Given the description of an element on the screen output the (x, y) to click on. 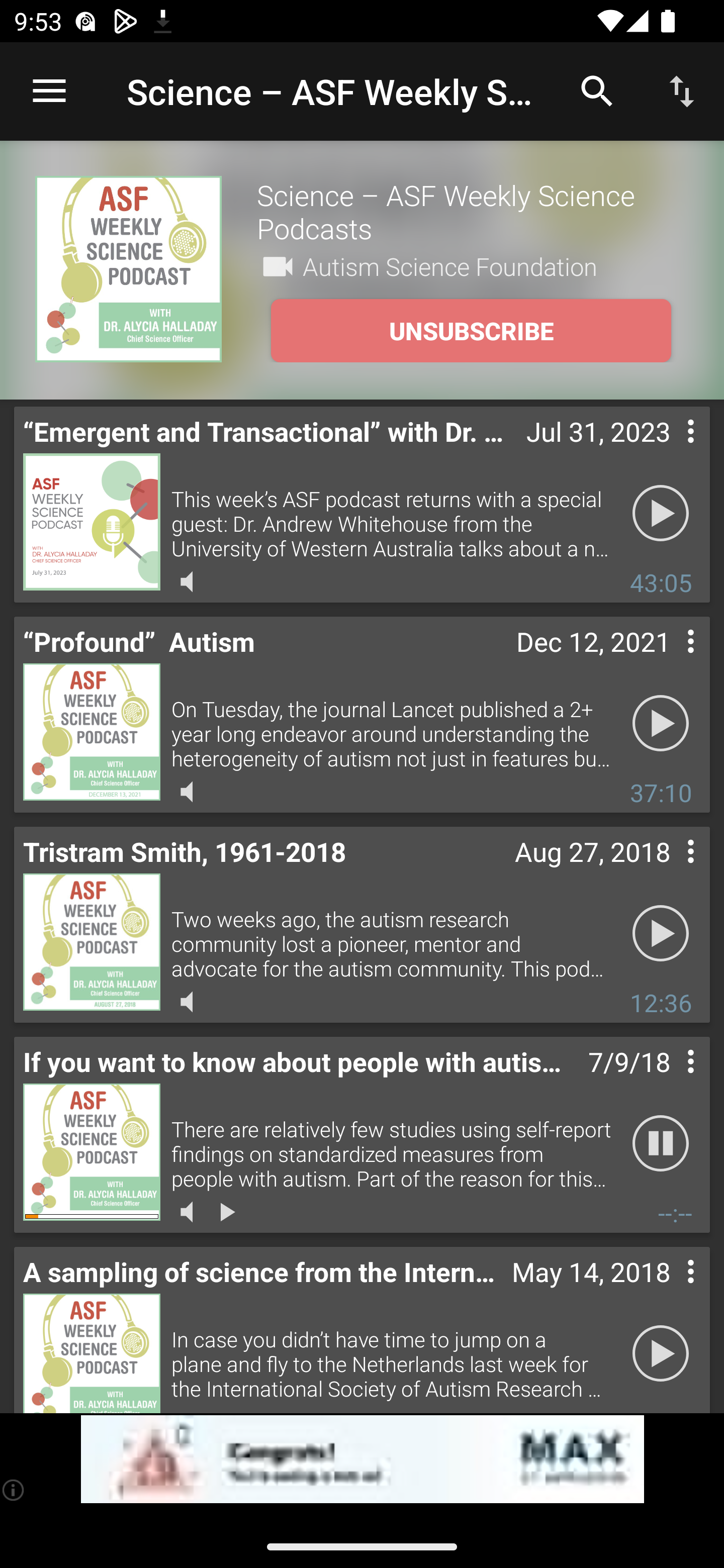
Open navigation sidebar (49, 91)
Search (597, 90)
Sort (681, 90)
UNSUBSCRIBE (470, 330)
Contextual menu (668, 451)
Play (660, 513)
Contextual menu (668, 661)
Play (660, 723)
Contextual menu (668, 870)
Play (660, 933)
Contextual menu (668, 1080)
Pause (660, 1143)
Contextual menu (668, 1290)
Play (660, 1353)
app-monetization (362, 1459)
(i) (14, 1489)
